Given the description of an element on the screen output the (x, y) to click on. 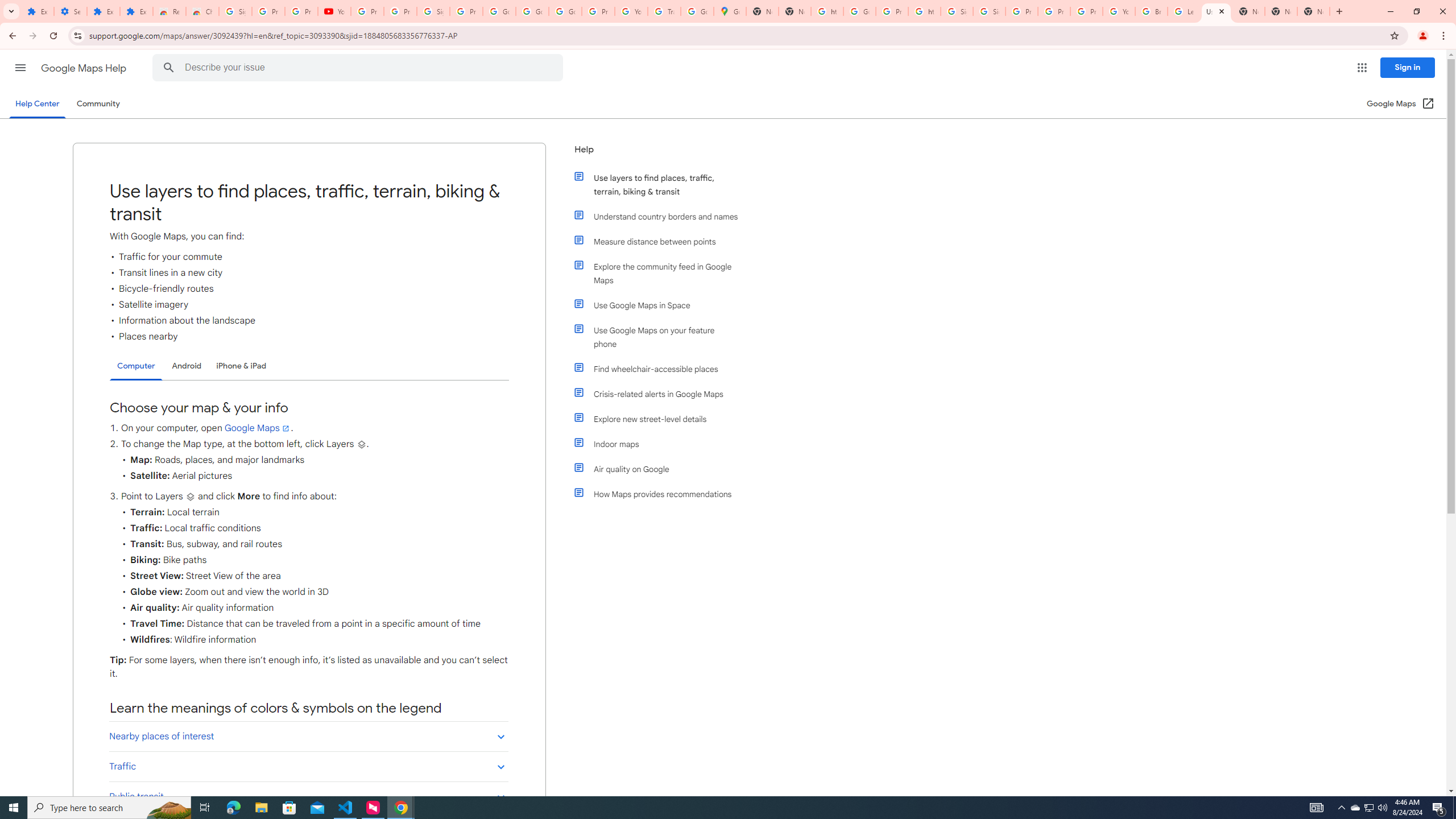
Computer (136, 366)
Traffic (308, 766)
Find wheelchair-accessible places (661, 368)
Android (186, 365)
Describe your issue (359, 67)
Public transit (308, 796)
View site information (77, 35)
Sign in (1407, 67)
Chrome (1445, 35)
Extensions (103, 11)
Forward (32, 35)
Google Maps (Open in a new window) (1400, 103)
